Given the description of an element on the screen output the (x, y) to click on. 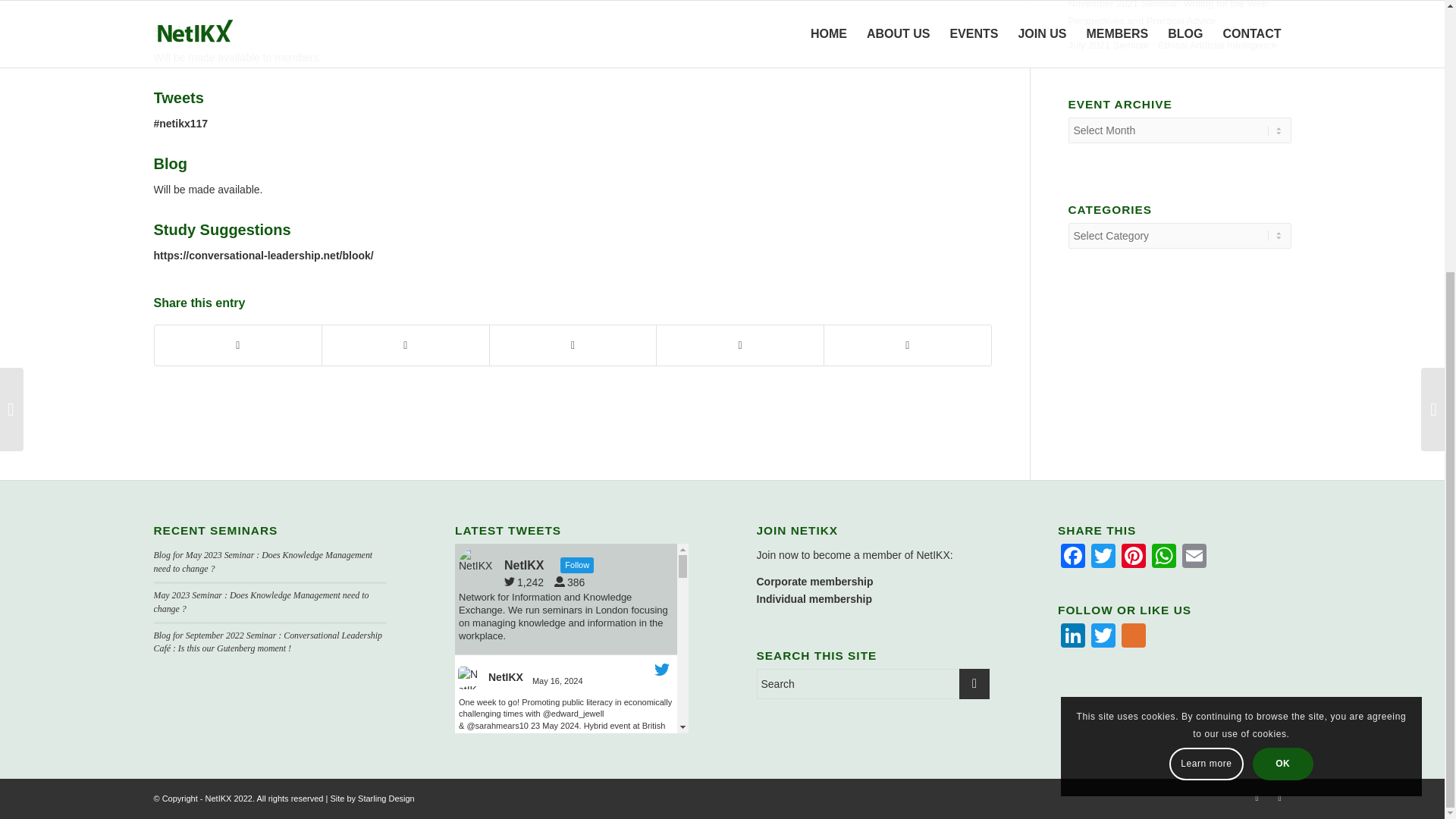
Facebook (1072, 557)
1,242 Tweets (527, 582)
July 2021 Seminar : Ethical Artificial Intelligence (1178, 45)
Twitter (1102, 557)
386 Followers (573, 582)
